Given the description of an element on the screen output the (x, y) to click on. 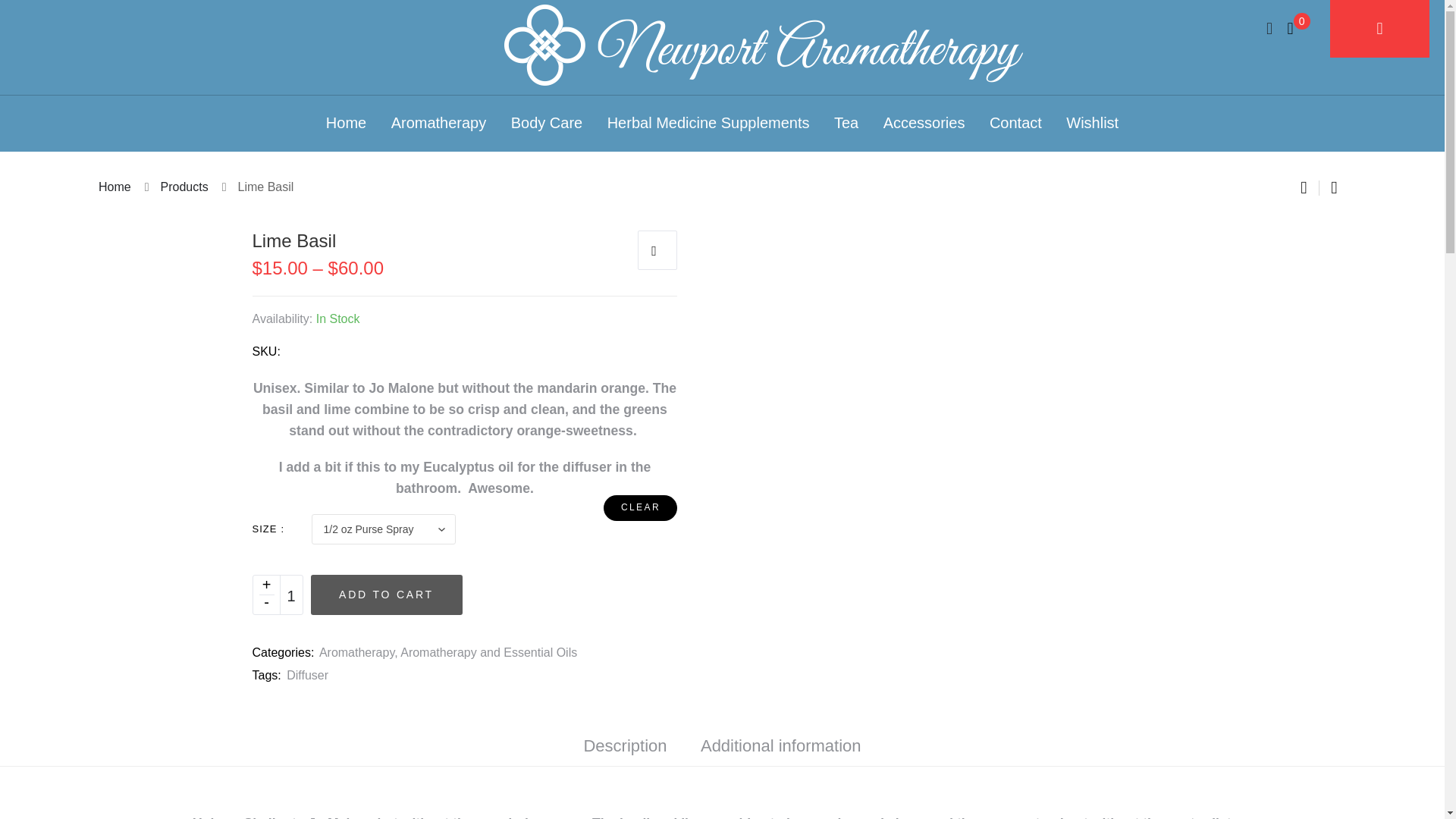
Accessories (924, 123)
Home (115, 186)
Herbal Medicine Supplements (708, 123)
Body Care (547, 123)
Description (624, 745)
Aromatherapy (438, 123)
Products (184, 186)
Contact (1016, 123)
Aromatherapy (356, 652)
Aromatherapy and Essential Oils (488, 652)
